Given the description of an element on the screen output the (x, y) to click on. 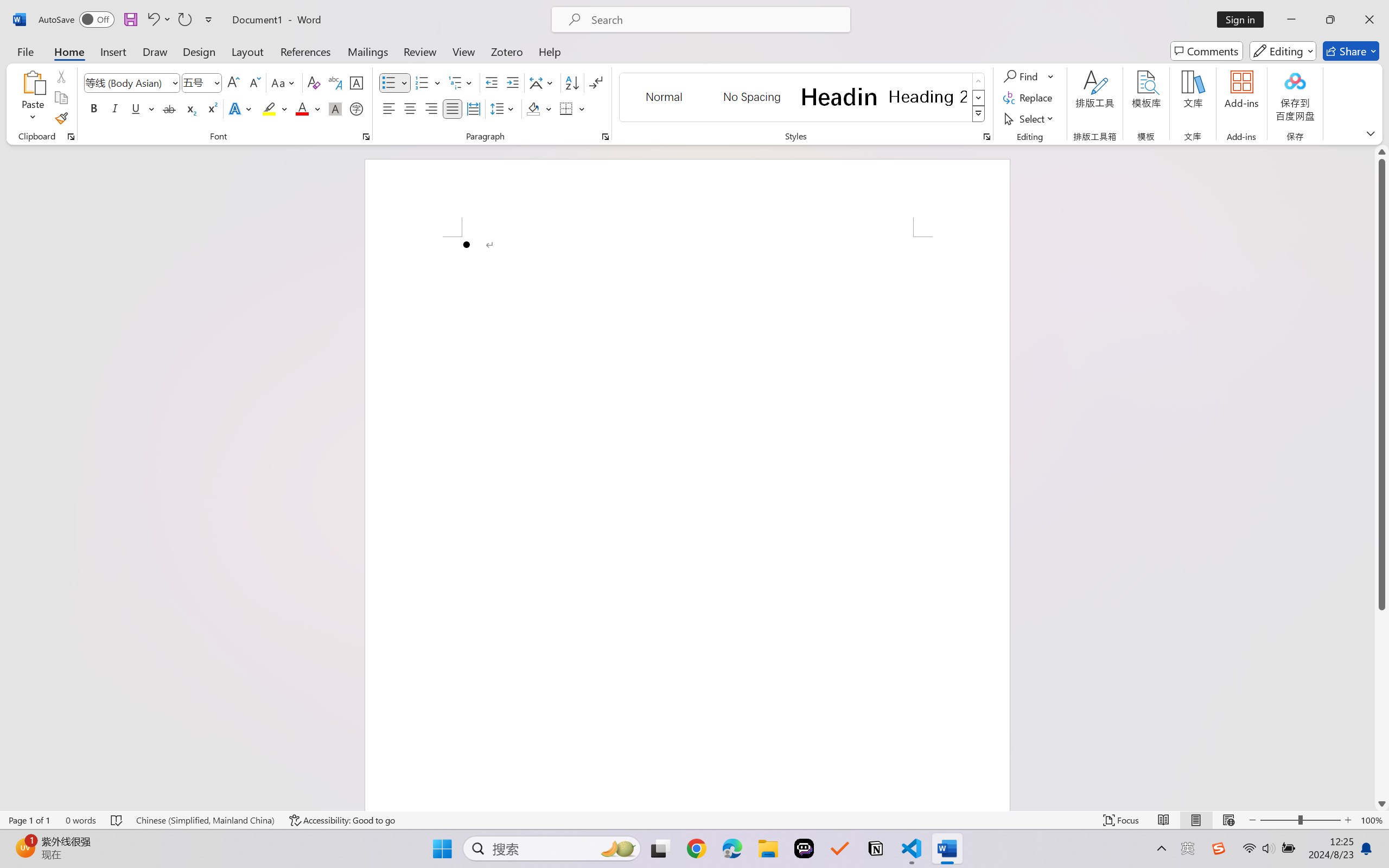
Line up (1382, 151)
Repeat Bullet Default (184, 19)
Sign in (1244, 19)
